Given the description of an element on the screen output the (x, y) to click on. 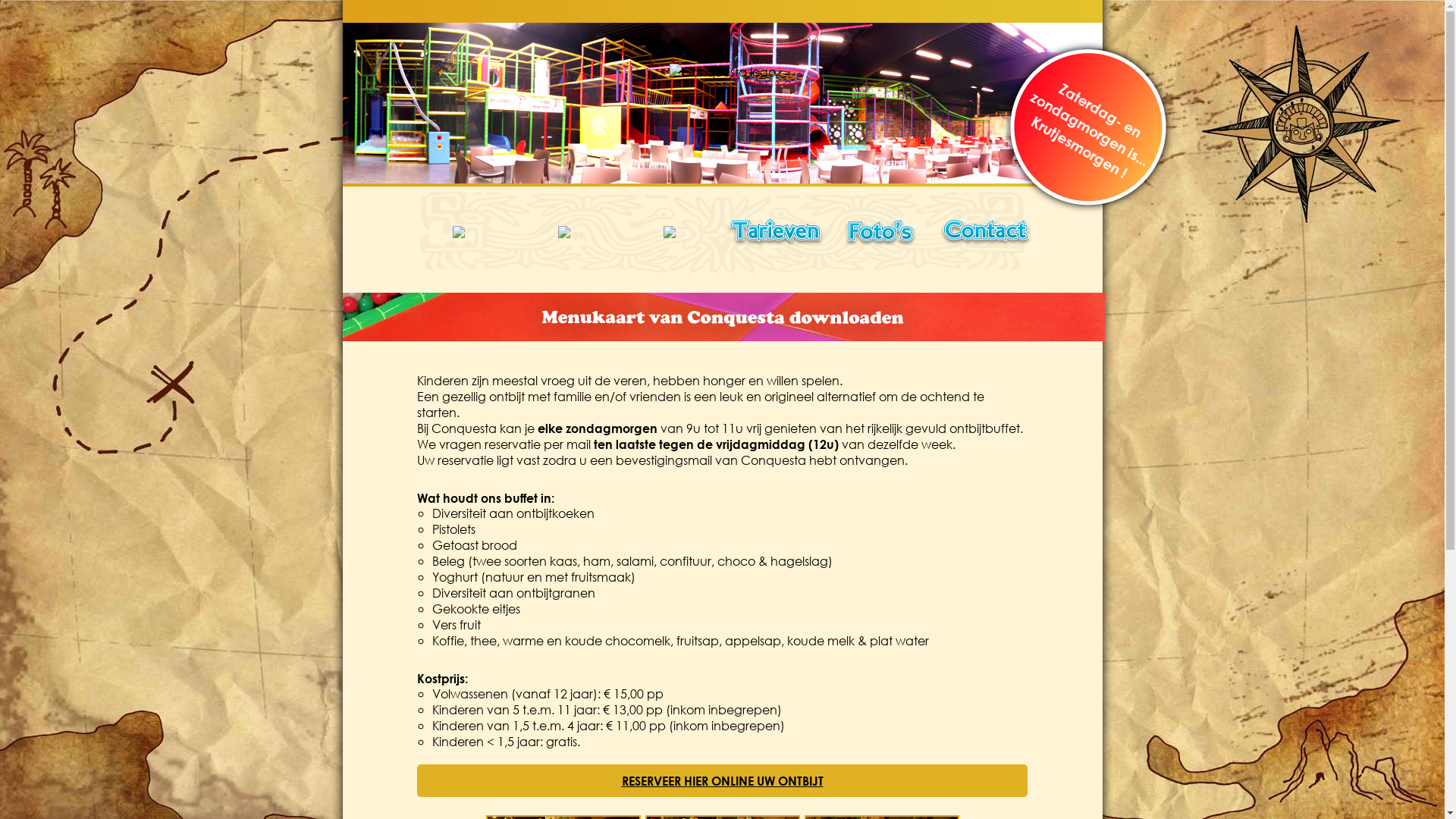
Zaterdag- en
zondagmorgen is...
Krutjesmorgen ! Element type: text (1081, 99)
